Given the description of an element on the screen output the (x, y) to click on. 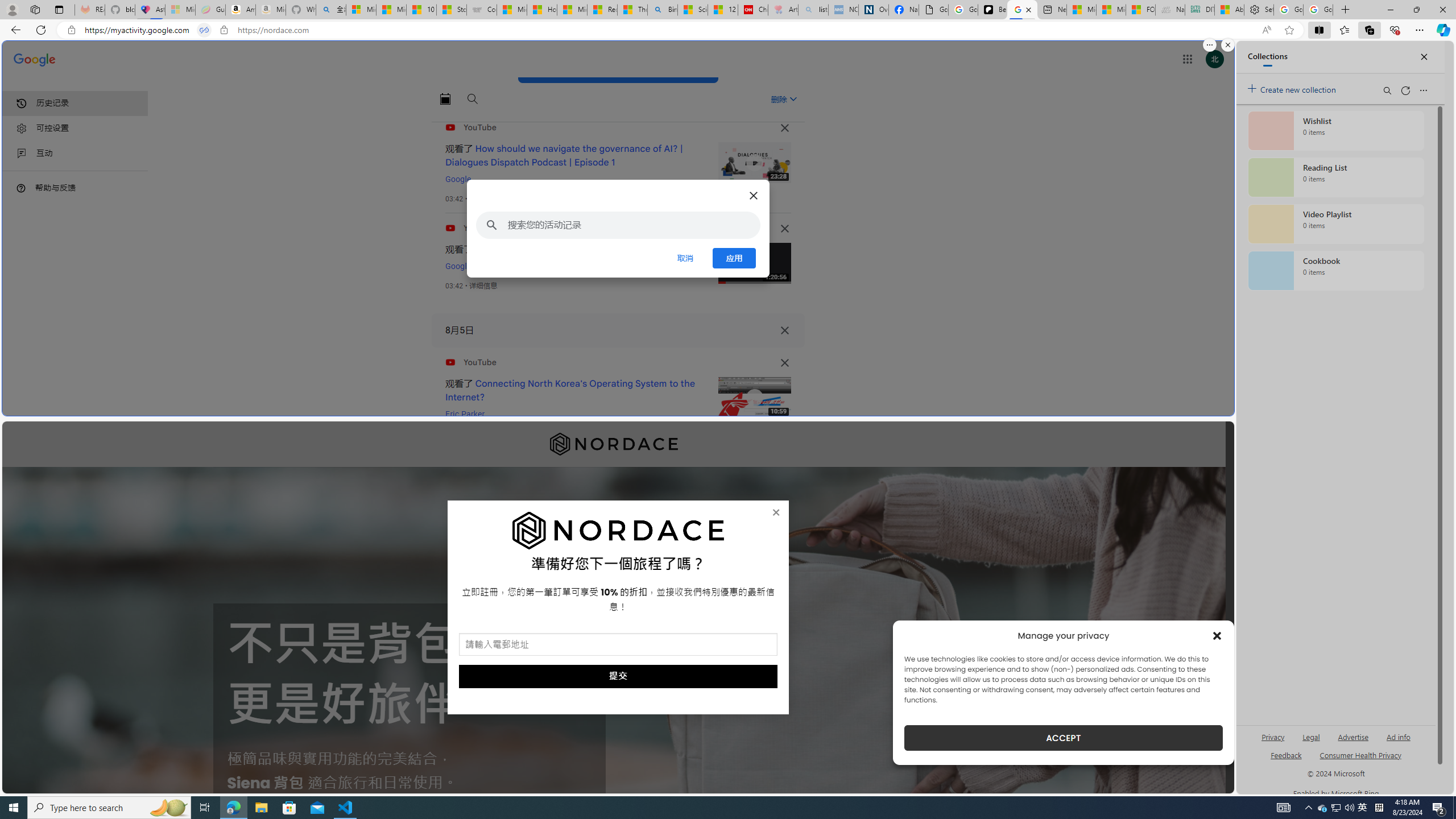
AutomationID: sb_feedback (1286, 754)
Google Analytics Opt-out Browser Add-on Download Page (933, 9)
AutomationID: field_5_1 (617, 645)
FOX News - MSN (1140, 9)
Connecting North Korea's Operating System to the Internet? (569, 390)
Class: DTiKkd NMm5M (21, 188)
Class: cmplz-close (1217, 635)
